Given the description of an element on the screen output the (x, y) to click on. 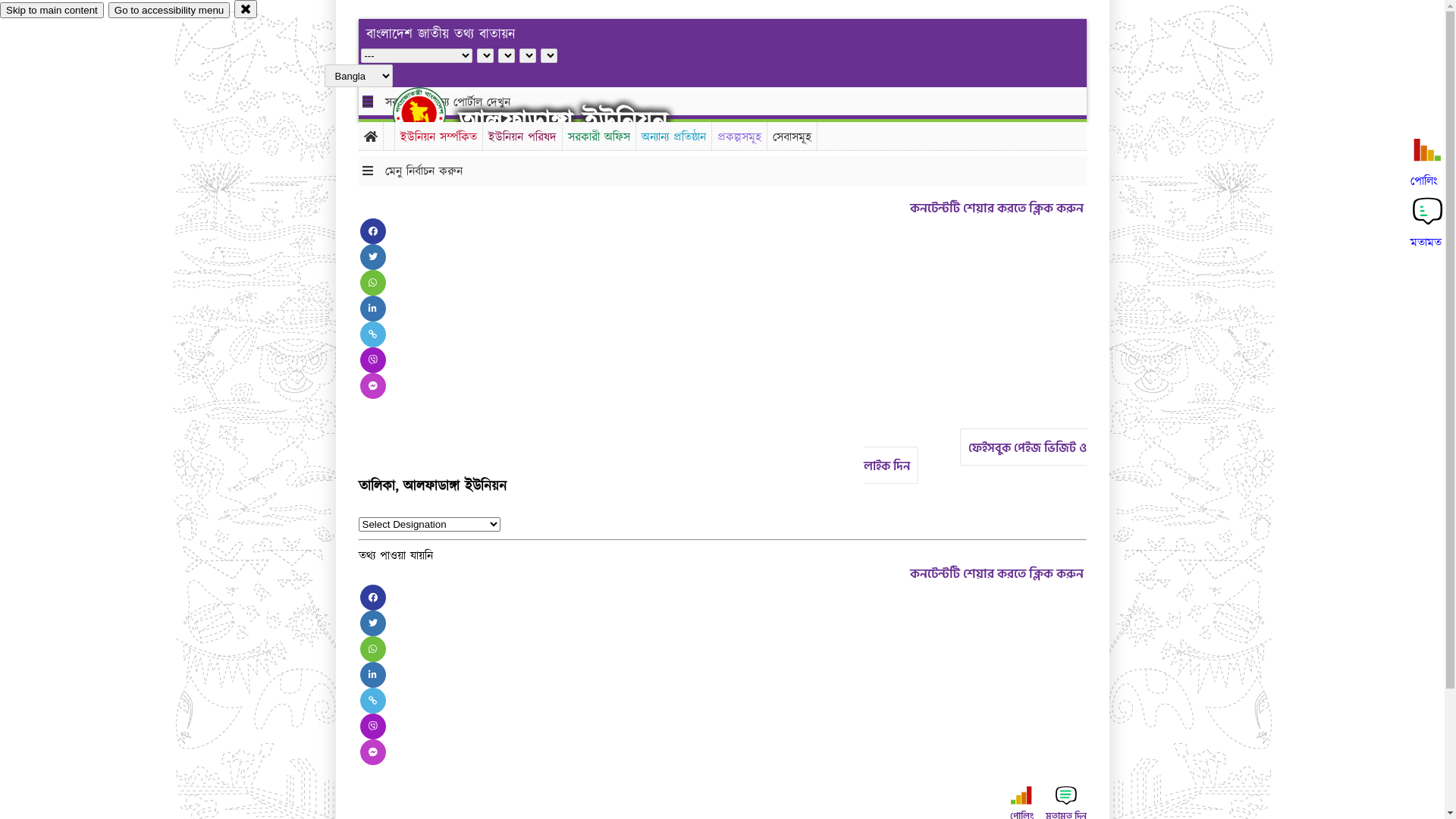
close Element type: hover (245, 9)
Go to accessibility menu Element type: text (168, 10)
Skip to main content Element type: text (51, 10)

                
             Element type: hover (431, 112)
